Given the description of an element on the screen output the (x, y) to click on. 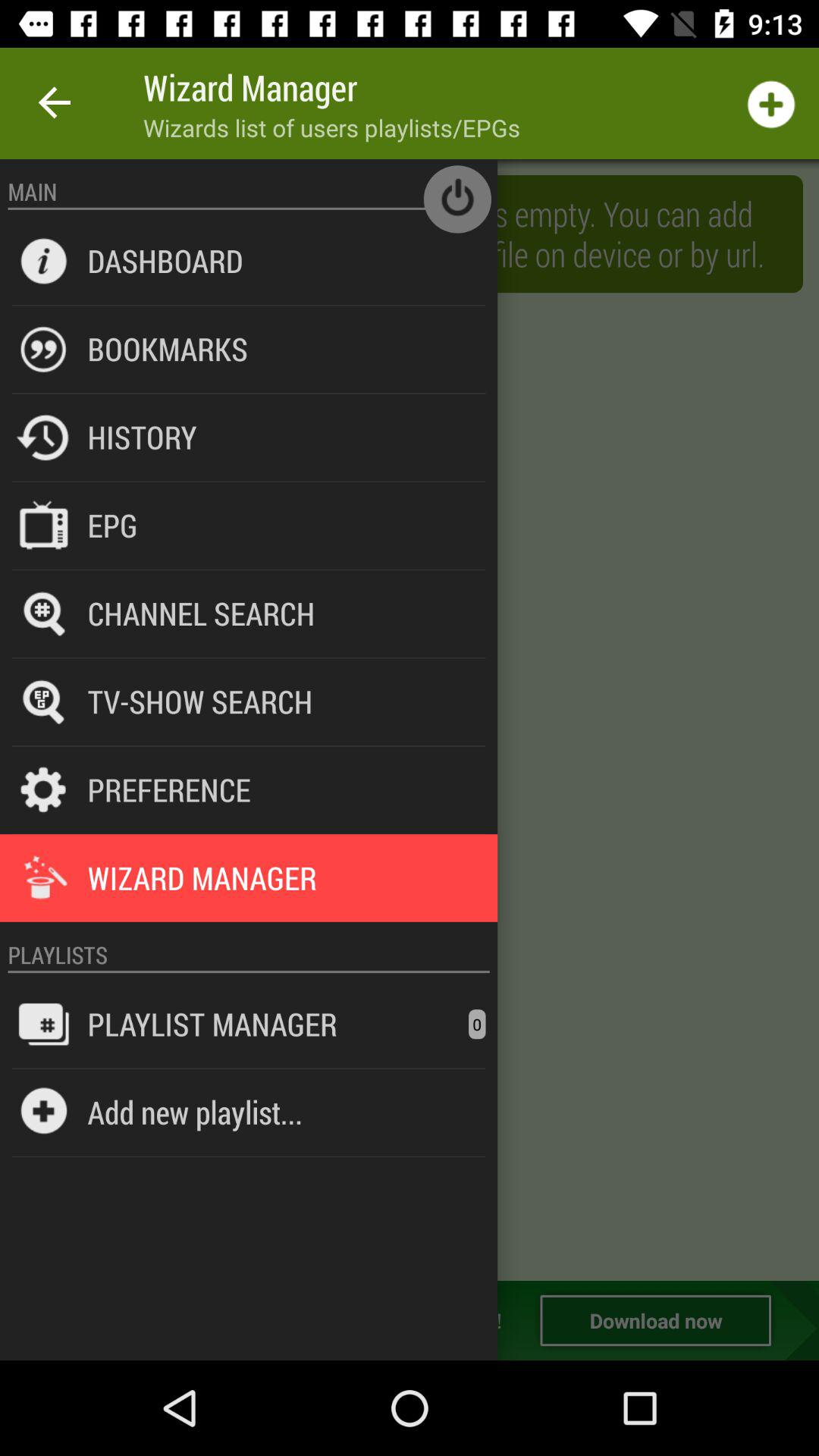
main menu (409, 719)
